Given the description of an element on the screen output the (x, y) to click on. 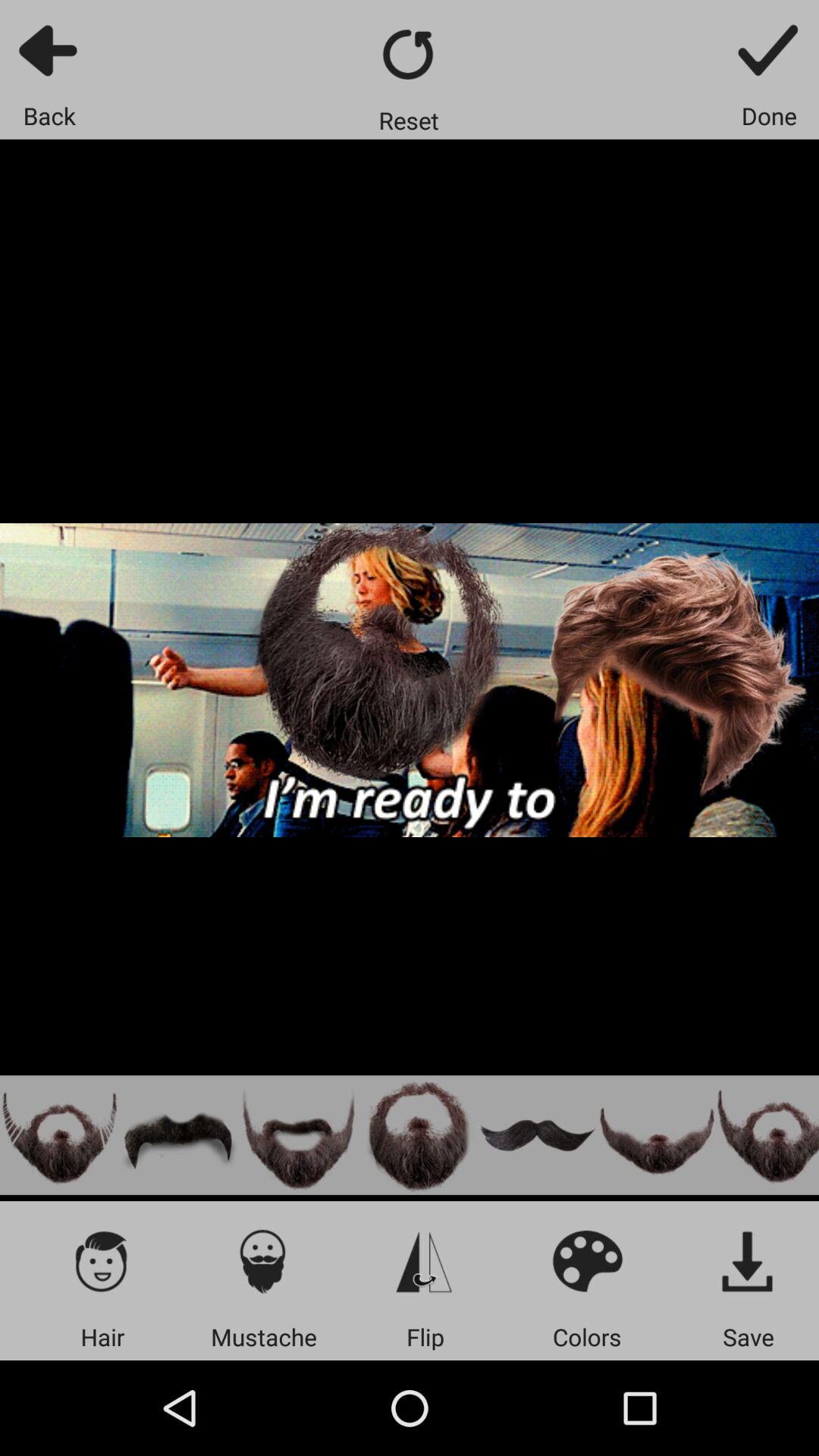
apply filter (263, 1260)
